Given the description of an element on the screen output the (x, y) to click on. 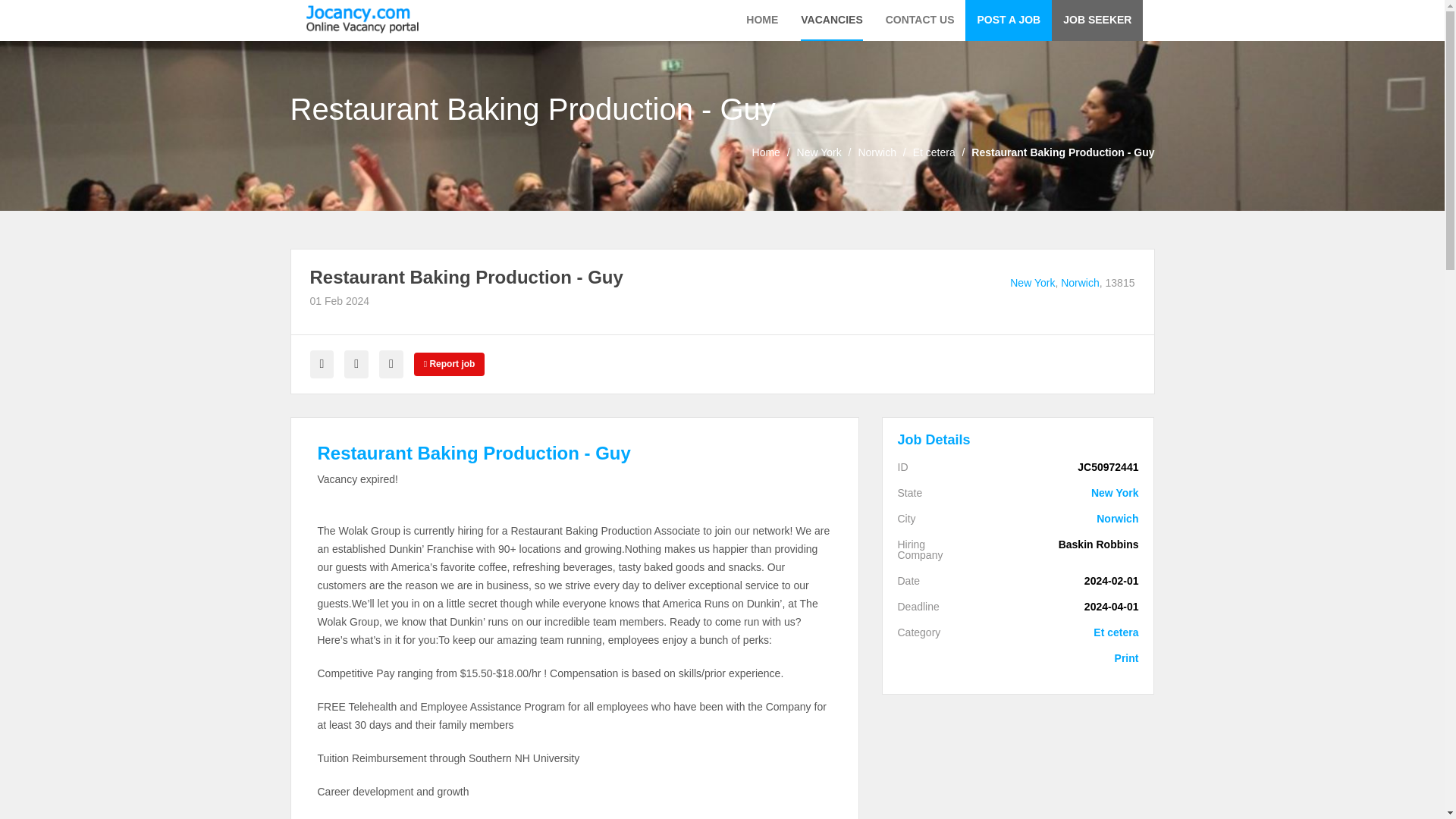
Report job (448, 363)
POST A JOB (1008, 20)
VACANCIES (830, 20)
New York State jobs (819, 152)
Print (1061, 657)
Post a Job (1008, 20)
Jocancy - jocancy.com (362, 19)
Vacancies (830, 20)
Home (766, 152)
Norwich (1080, 282)
Et cetera (1061, 632)
Job Seeker (1096, 20)
Et cetera (933, 152)
Contact us (920, 20)
Norwich (1080, 282)
